Given the description of an element on the screen output the (x, y) to click on. 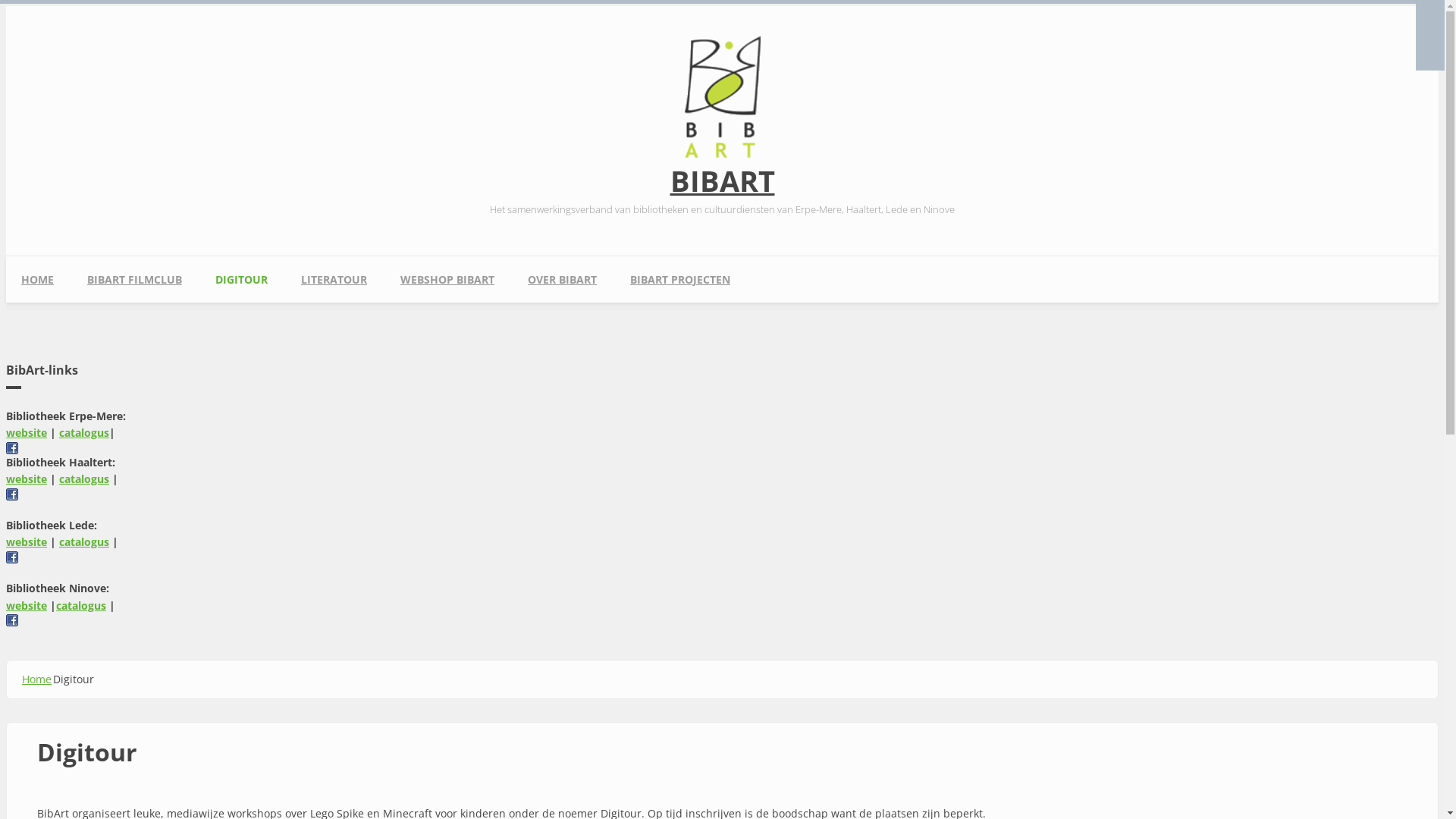
BIBART PROJECTEN Element type: text (680, 279)
website Element type: text (26, 605)
Home Element type: text (36, 678)
catalogus Element type: text (81, 605)
BIBART Element type: text (722, 180)
catalogus Element type: text (84, 478)
HOME Element type: text (37, 279)
website Element type: text (26, 541)
LITERATOUR Element type: text (333, 279)
website Element type: text (26, 432)
Home Element type: hover (721, 153)
catalogus Element type: text (84, 541)
WEBSHOP BIBART Element type: text (447, 279)
website Element type: text (26, 478)
catalogus Element type: text (84, 432)
BIBART FILMCLUB Element type: text (134, 279)
Overslaan en naar de inhoud gaan Element type: text (94, 6)
DIGITOUR Element type: text (241, 279)
OVER BIBART Element type: text (561, 279)
